Given the description of an element on the screen output the (x, y) to click on. 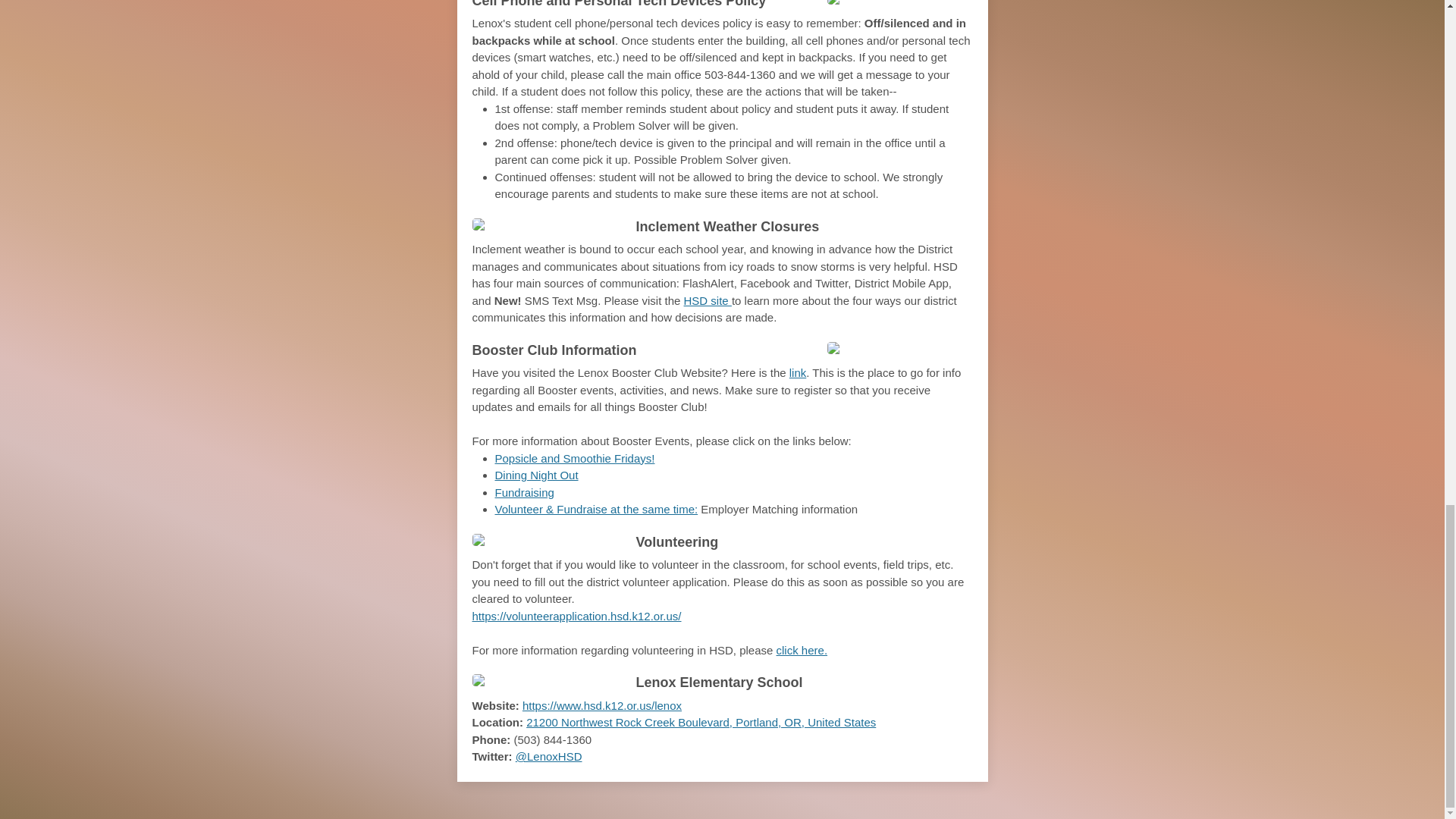
link (797, 372)
HSD site (708, 299)
Popsicle and Smoothie Fridays! (574, 457)
Dining Night Out (536, 474)
click here. (802, 649)
Fundraising (524, 492)
